Given the description of an element on the screen output the (x, y) to click on. 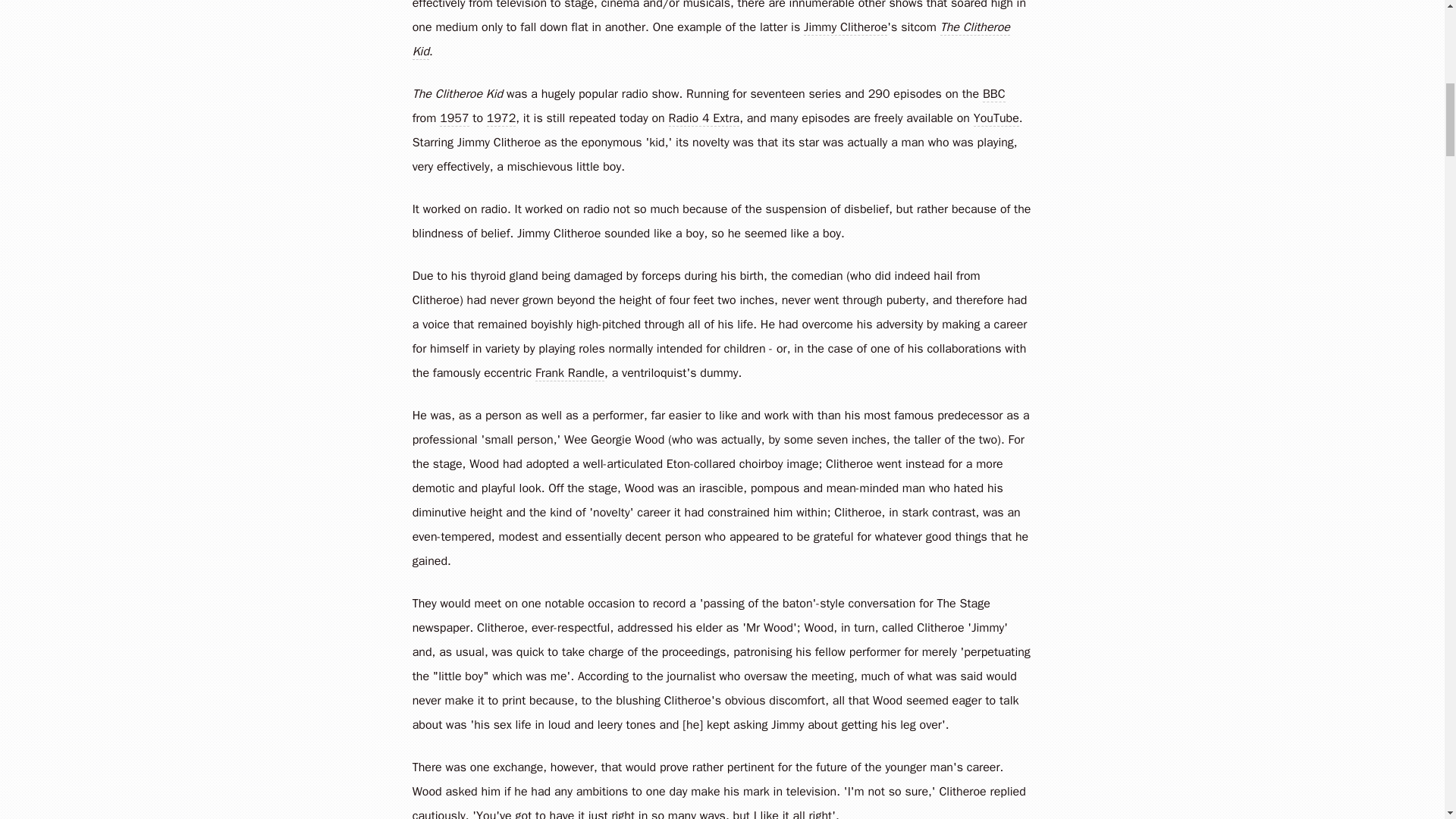
The Clitheroe Kid: 1957 - 1972 sitcom. Click for a guide. (711, 38)
YouTube (996, 117)
Jimmy Clitheroe profile (844, 26)
More details about BBC Radio 4 Extra (703, 117)
Jimmy Clitheroe (844, 26)
Find out more about BBC (994, 93)
A guide to the year 1957 (453, 117)
Jimmy Clitheroe (557, 232)
A guide to the year 1972 (500, 117)
Jimmy Clitheroe profile (498, 141)
Jimmy Clitheroe (498, 141)
1972 (500, 117)
The Clitheroe Kid: 1957 - 1972 sitcom. Click for a guide. (457, 92)
1957 (453, 117)
More details about YouTube (996, 117)
